Given the description of an element on the screen output the (x, y) to click on. 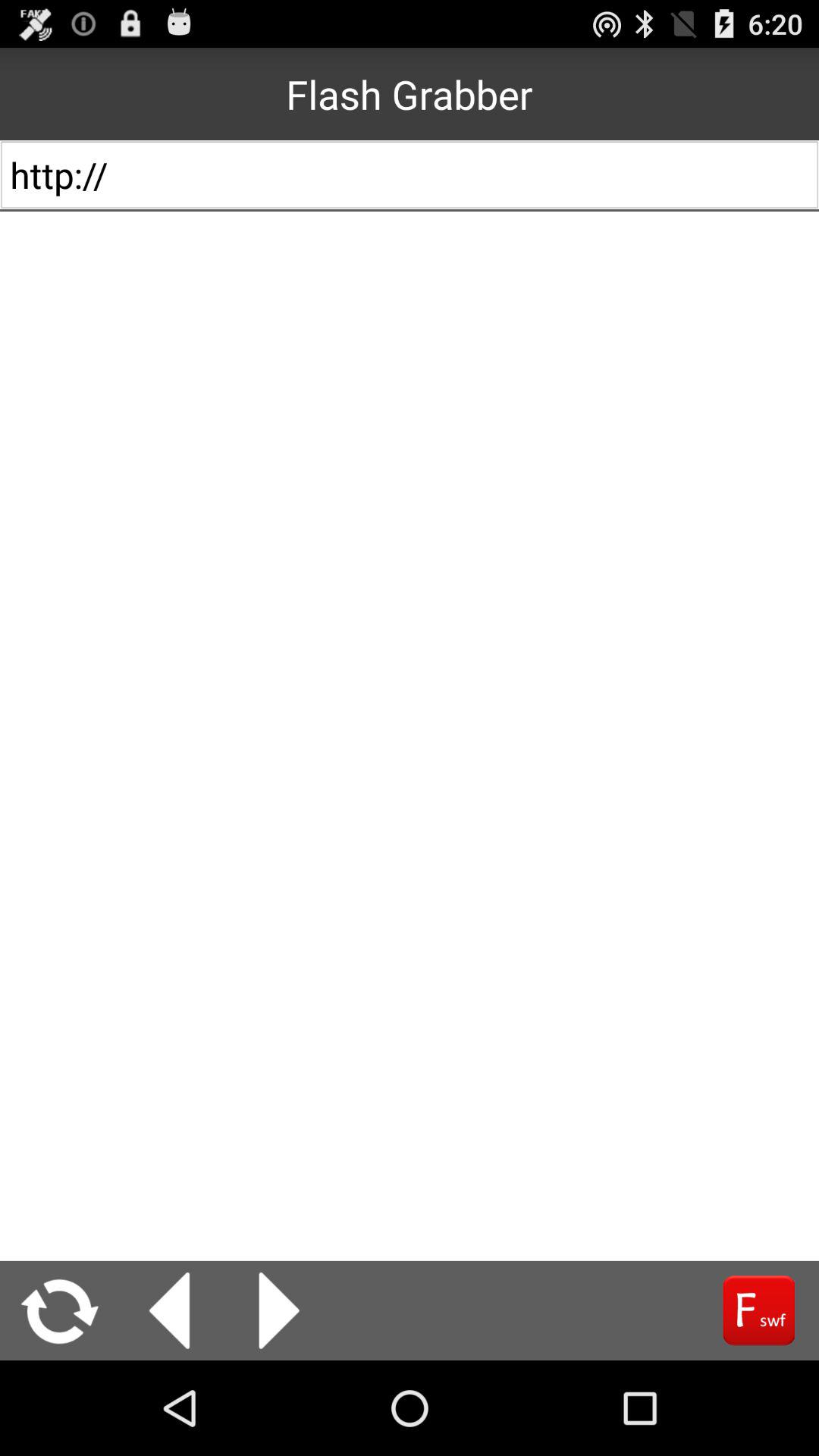
play next (279, 1310)
